Given the description of an element on the screen output the (x, y) to click on. 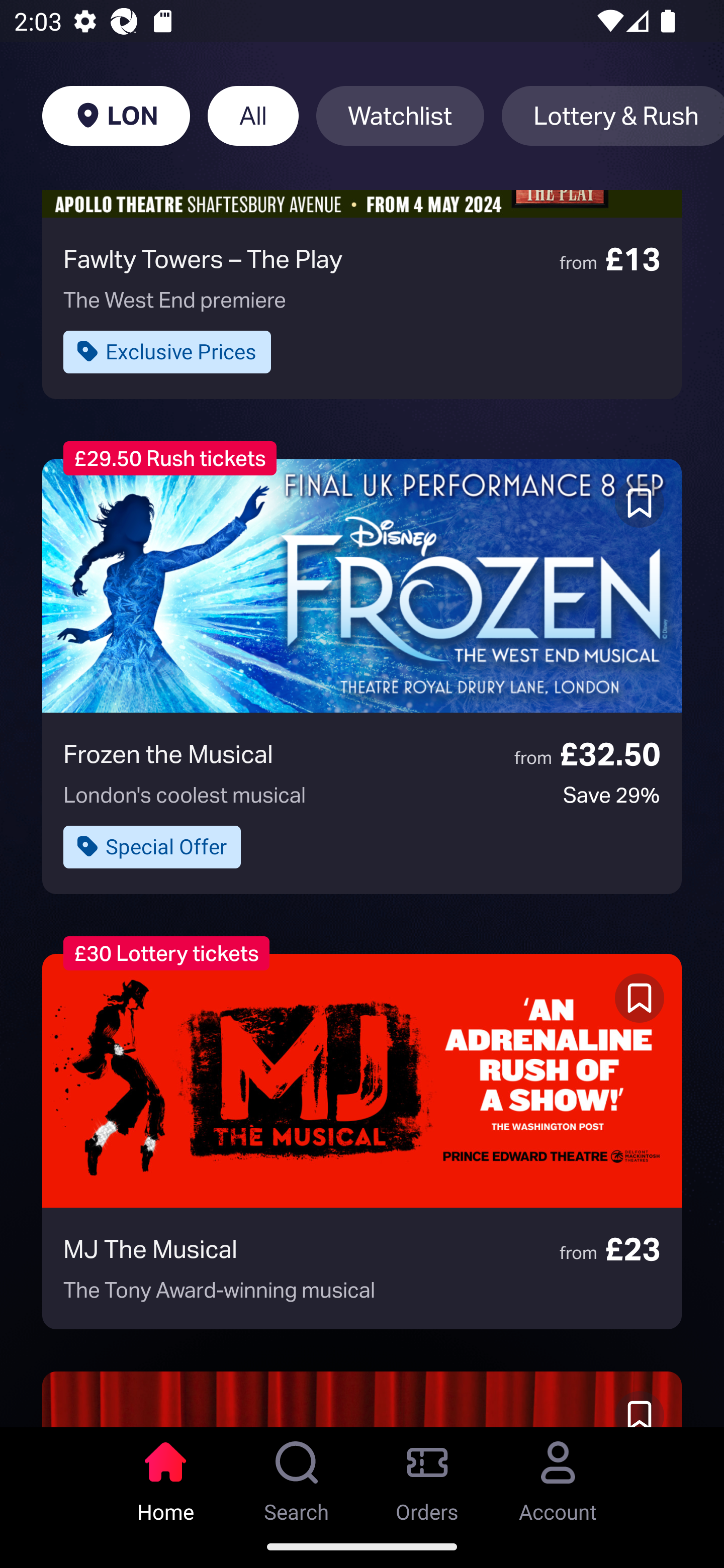
LON (115, 115)
All (252, 115)
Watchlist (400, 115)
Lottery & Rush (612, 115)
Search (296, 1475)
Orders (427, 1475)
Account (558, 1475)
